Given the description of an element on the screen output the (x, y) to click on. 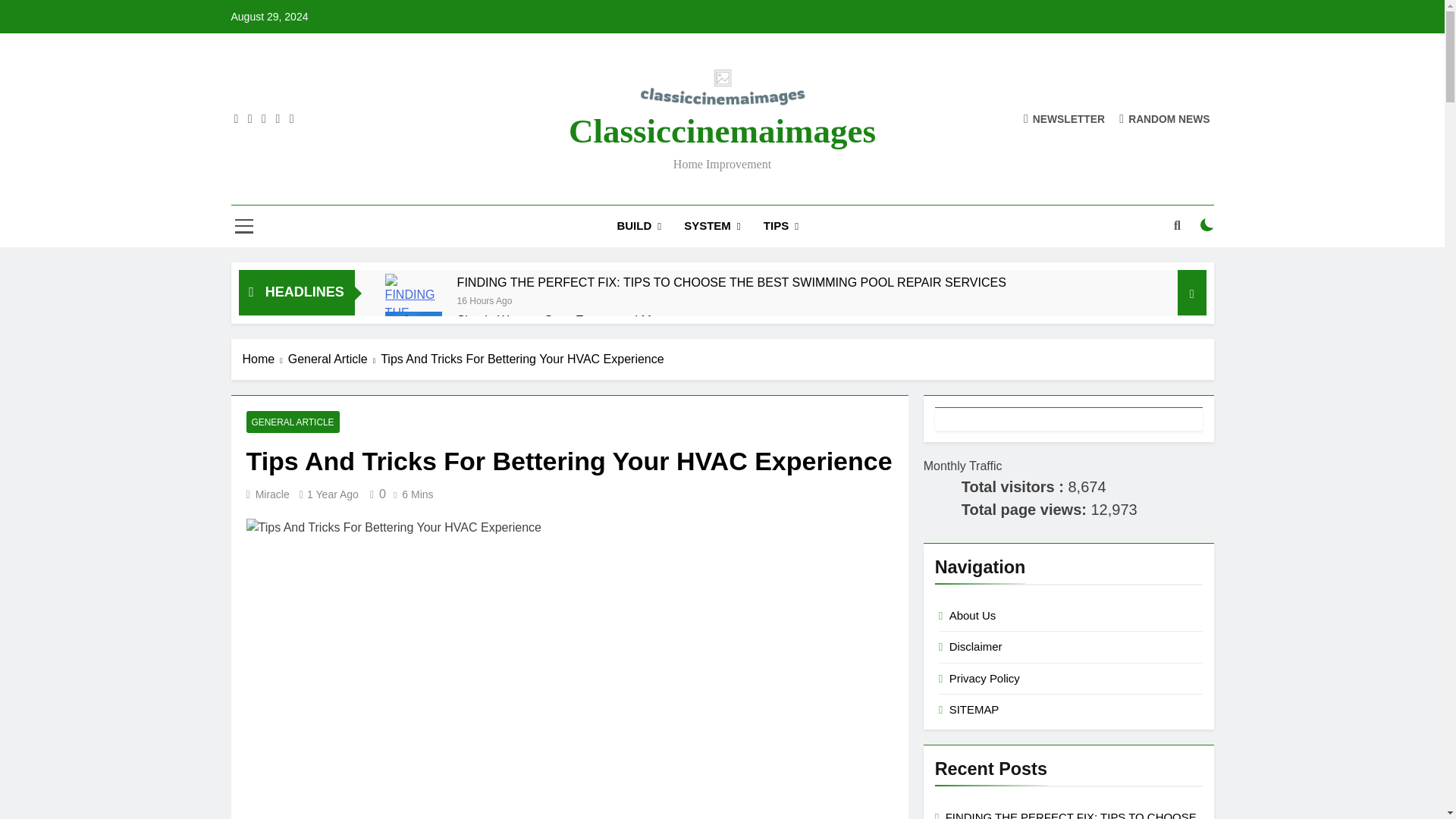
Simple Ways to Save Energy and Money (567, 319)
Simple Ways to Save Energy and Money (567, 319)
TIPS (780, 226)
Classiccinemaimages (722, 130)
NEWSLETTER (1064, 118)
16 Hours Ago (484, 299)
SYSTEM (712, 226)
Simple Ways to Save Energy and Money (413, 332)
